Given the description of an element on the screen output the (x, y) to click on. 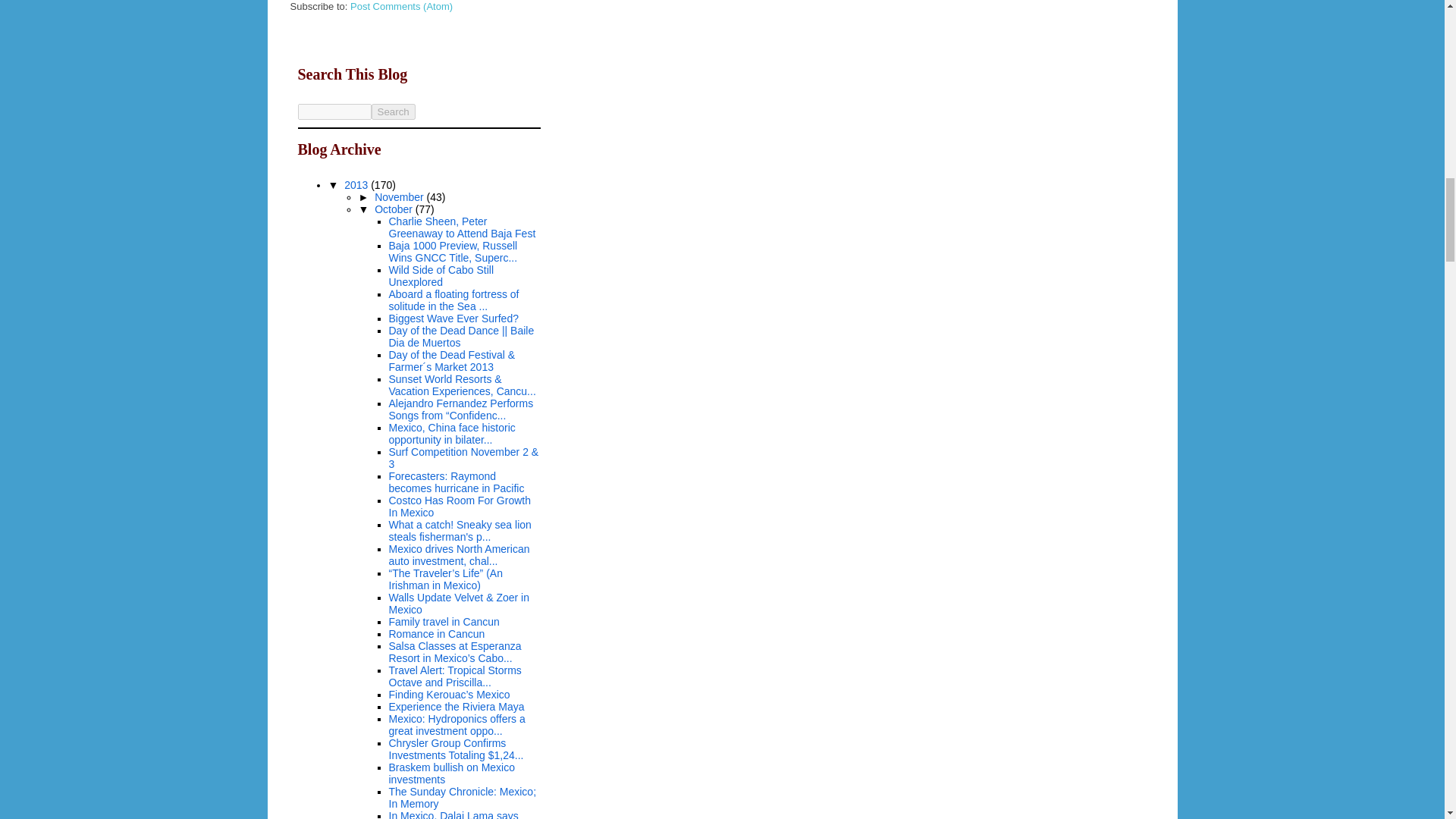
2013 (357, 184)
Baja 1000 Preview, Russell Wins GNCC Title, Superc... (452, 251)
Mexico, China face historic opportunity in bilater... (451, 433)
search (392, 111)
Search (392, 111)
Aboard a floating fortress of solitude in the Sea ... (453, 300)
Search (392, 111)
Search (392, 111)
search (334, 111)
October (394, 209)
November (400, 196)
Wild Side of Cabo Still Unexplored (440, 275)
Biggest Wave Ever Surfed? (453, 318)
Charlie Sheen, Peter Greenaway to Attend Baja Fest (461, 227)
